Given the description of an element on the screen output the (x, y) to click on. 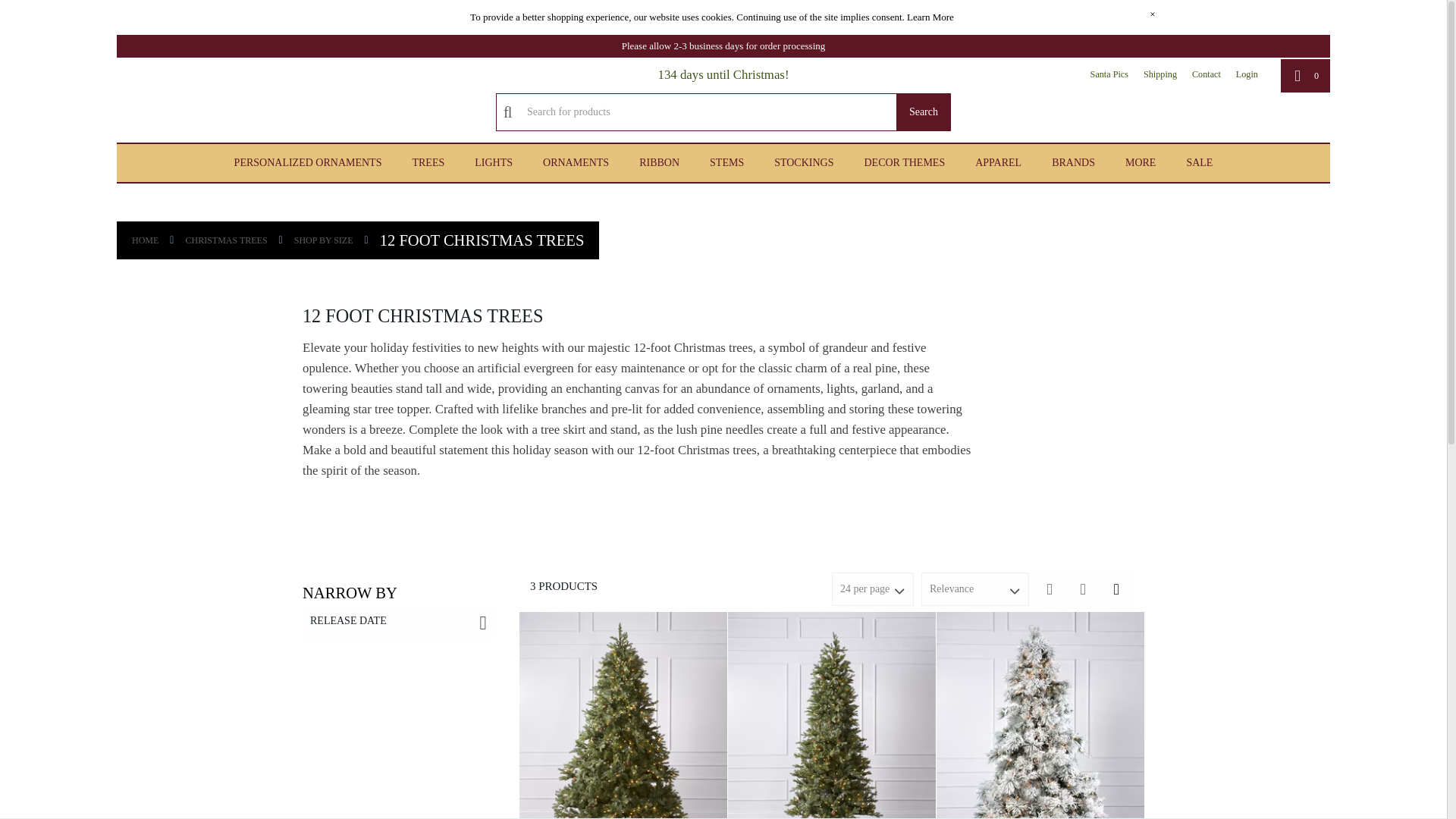
Grid (1115, 589)
BRANDS (1072, 162)
RIBBON (659, 162)
Christmas Place SCS (135, 100)
SHOP BY SIZE (323, 240)
Cart (1305, 75)
List (1048, 589)
Release Date (399, 622)
DECOR THEMES (903, 162)
ORNAMENTS (575, 162)
